Given the description of an element on the screen output the (x, y) to click on. 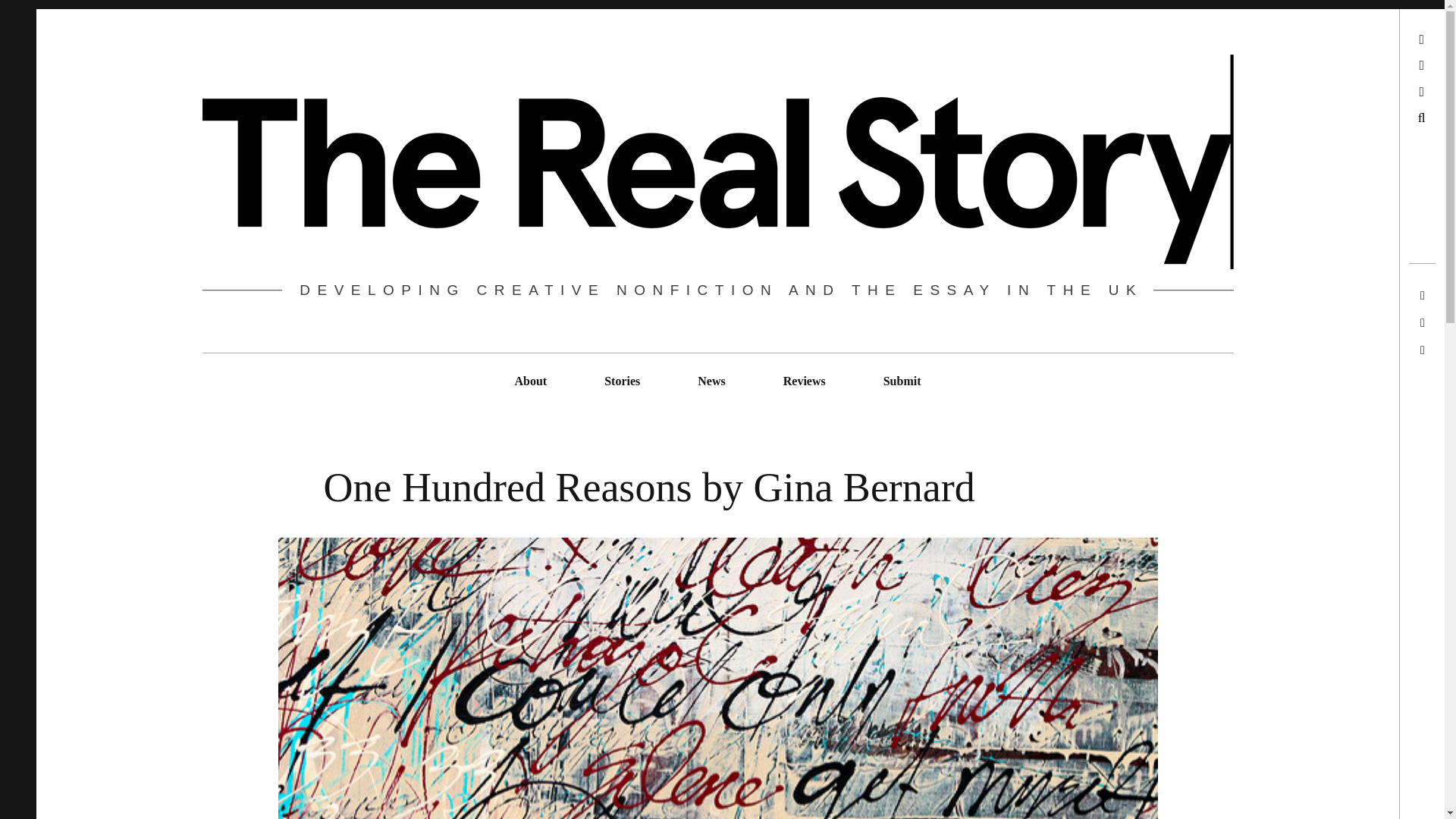
Reviews (804, 380)
News (710, 380)
Instagram (1371, 91)
Search (1377, 117)
Search (19, 16)
Twitter (1377, 39)
About (529, 380)
Stories (621, 380)
Submit (902, 380)
Facebook (1371, 65)
